Given the description of an element on the screen output the (x, y) to click on. 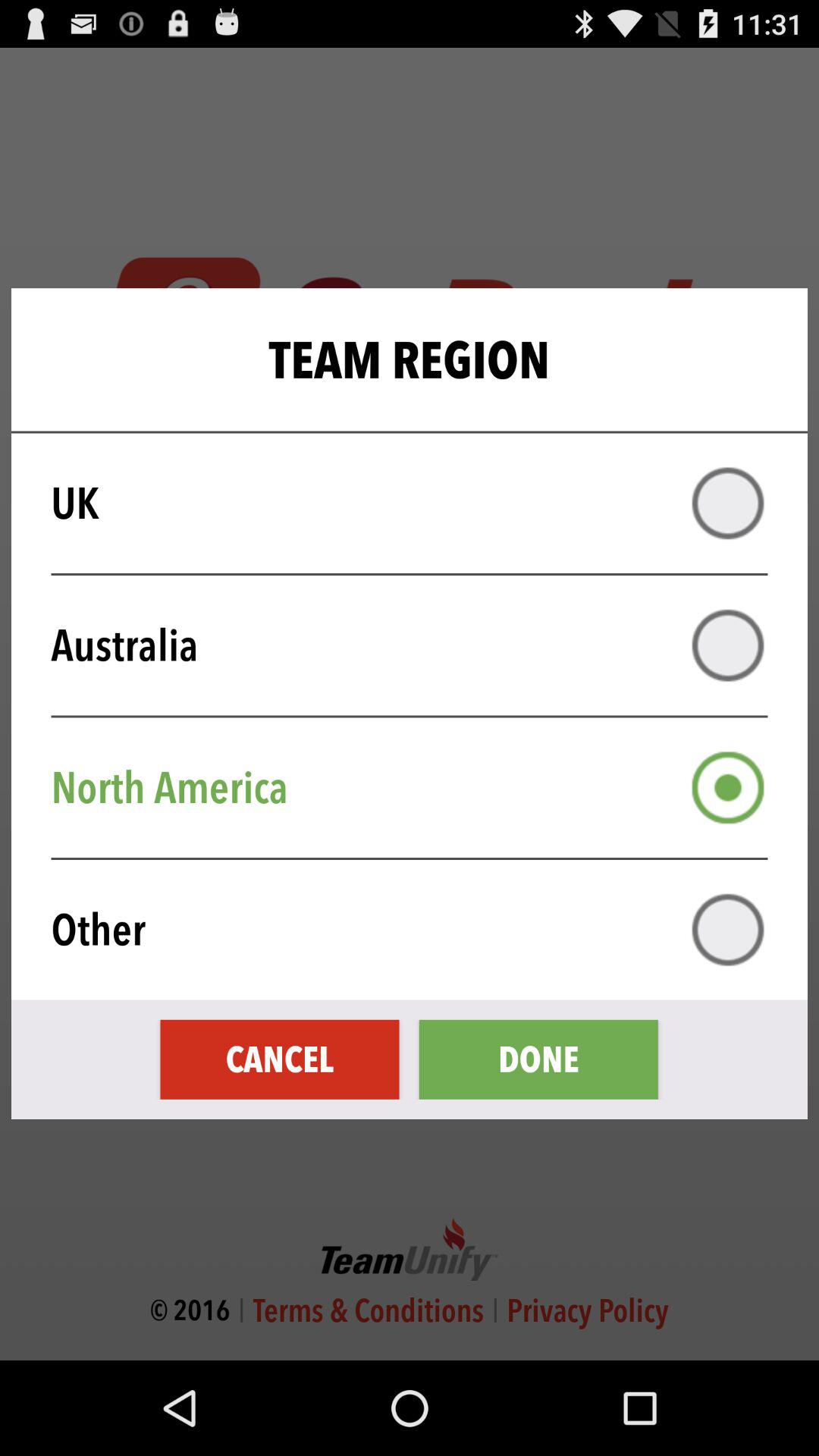
select done (538, 1059)
